Given the description of an element on the screen output the (x, y) to click on. 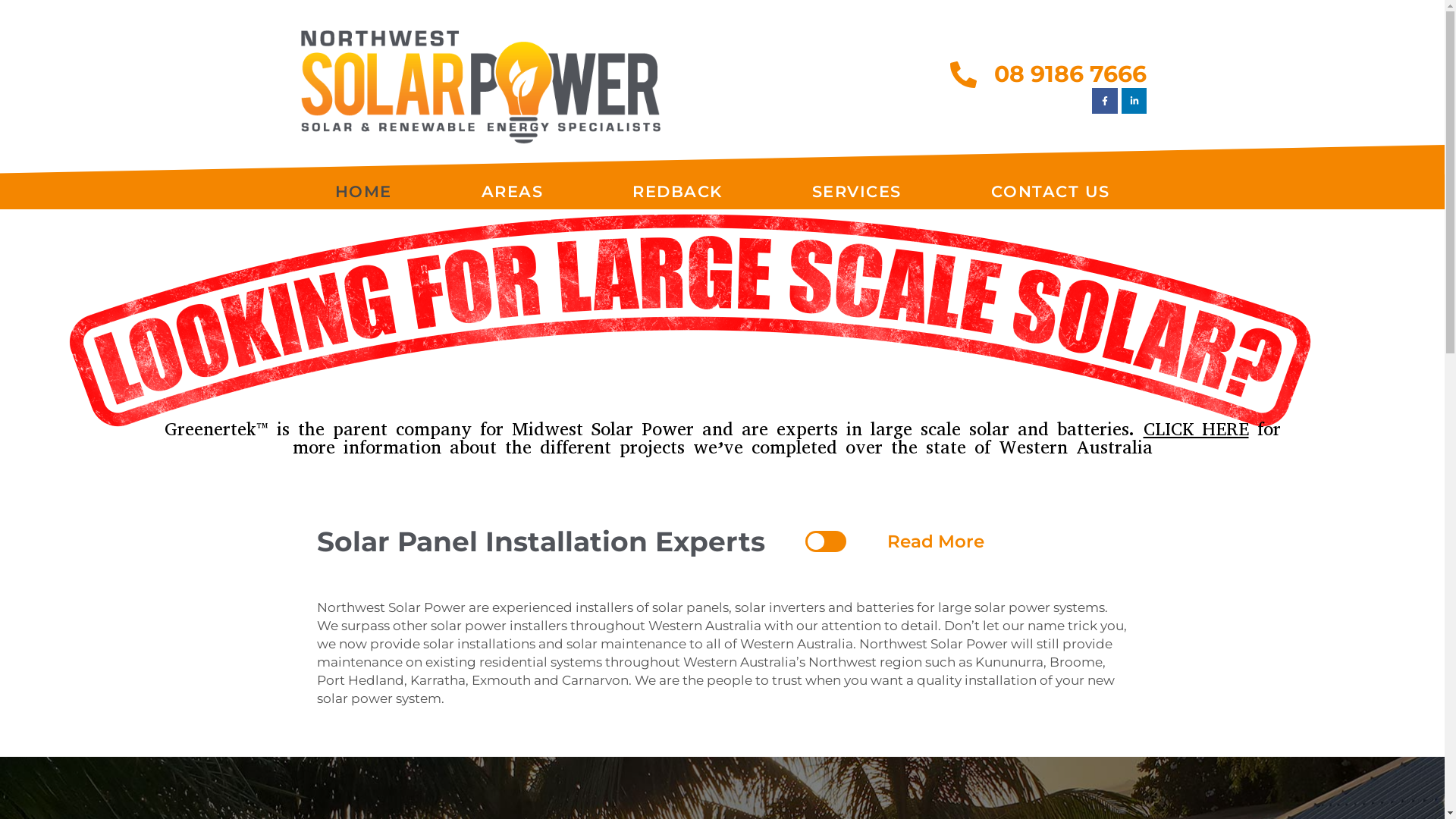
REDBACK Element type: text (677, 191)
CONTACT US Element type: text (1050, 191)
SERVICES Element type: text (856, 191)
AREAS Element type: text (512, 191)
HOME Element type: text (362, 191)
